Given the description of an element on the screen output the (x, y) to click on. 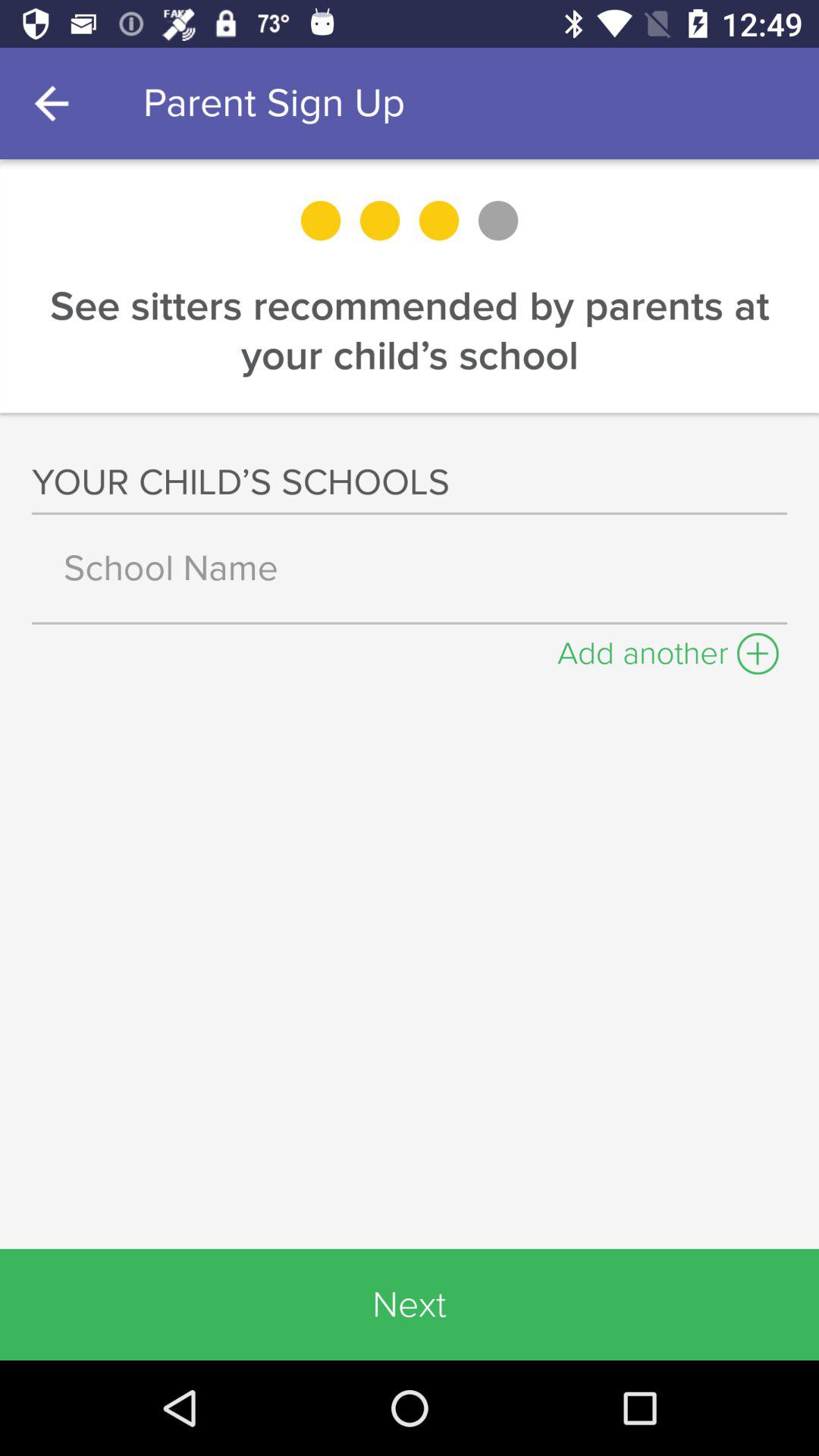
enter text (409, 568)
